Given the description of an element on the screen output the (x, y) to click on. 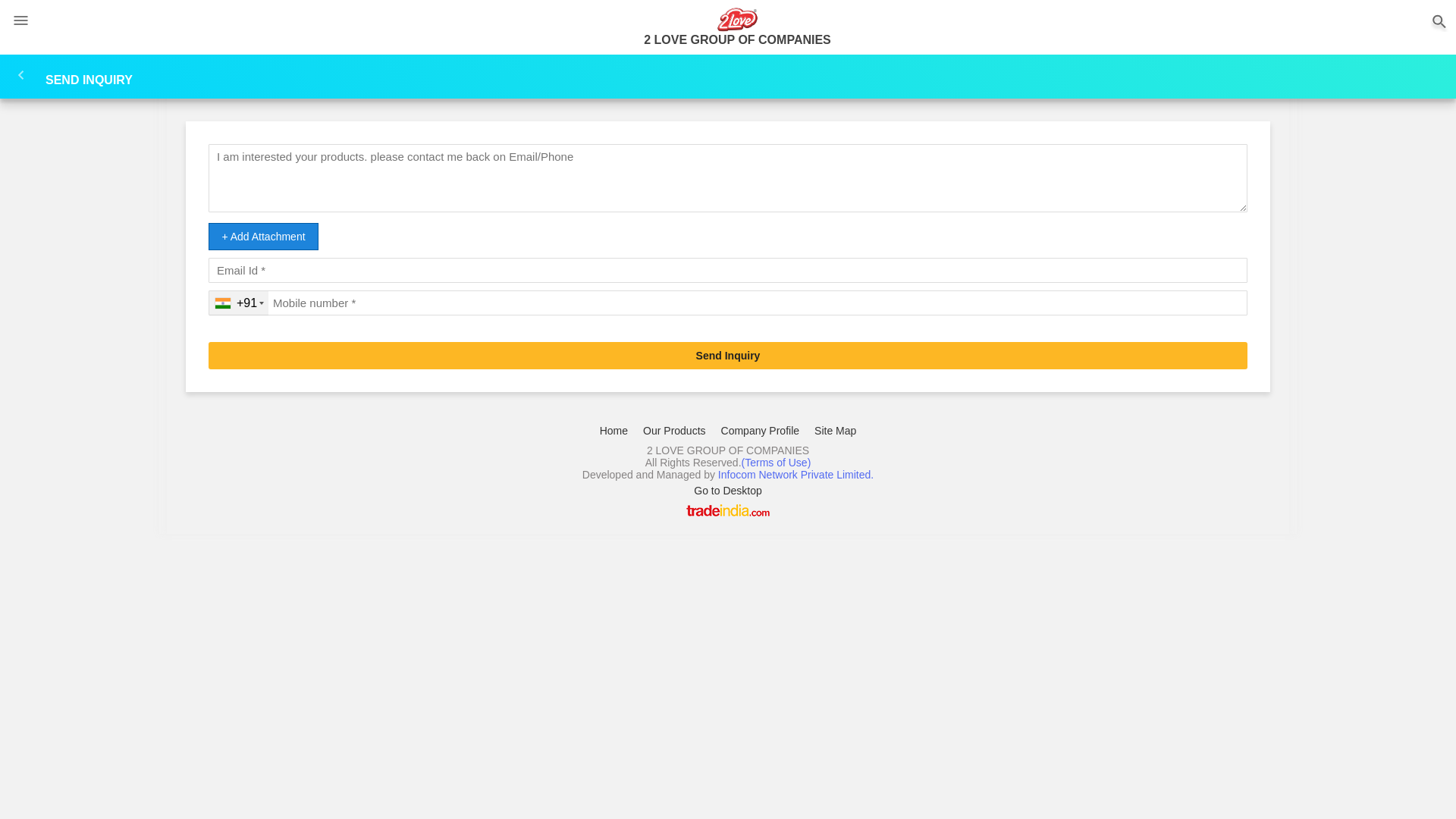
(Terms of Use) Element type: text (776, 462)
Infocom Network Private Limited. Element type: text (795, 474)
Go to Desktop Element type: text (727, 490)
Site Map Element type: text (835, 430)
Our Products Element type: text (674, 430)
Company Profile Element type: text (760, 430)
Send Inquiry Element type: text (727, 355)
Home Element type: text (613, 430)
